Given the description of an element on the screen output the (x, y) to click on. 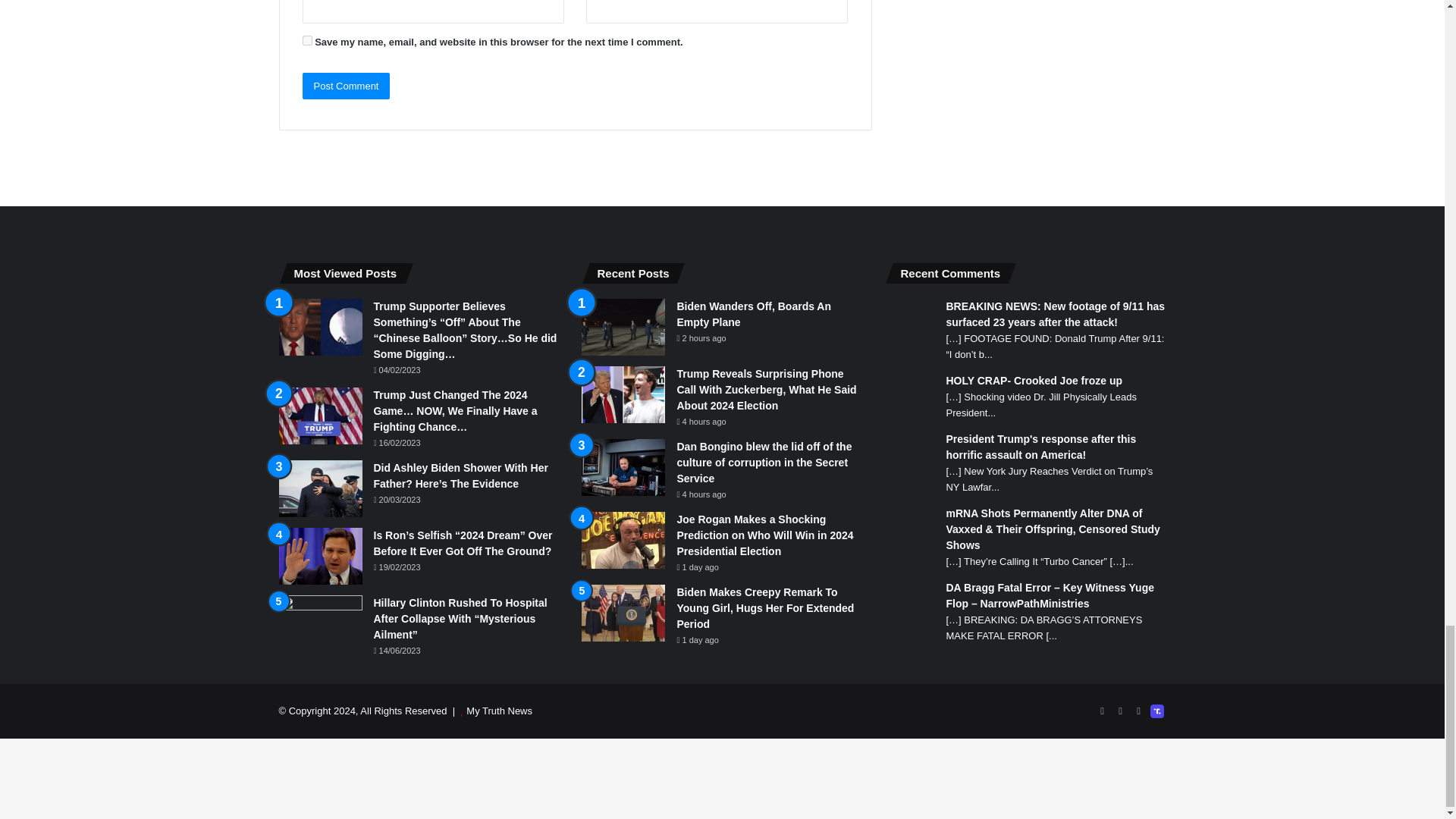
yes (306, 40)
Post Comment (345, 85)
